Given the description of an element on the screen output the (x, y) to click on. 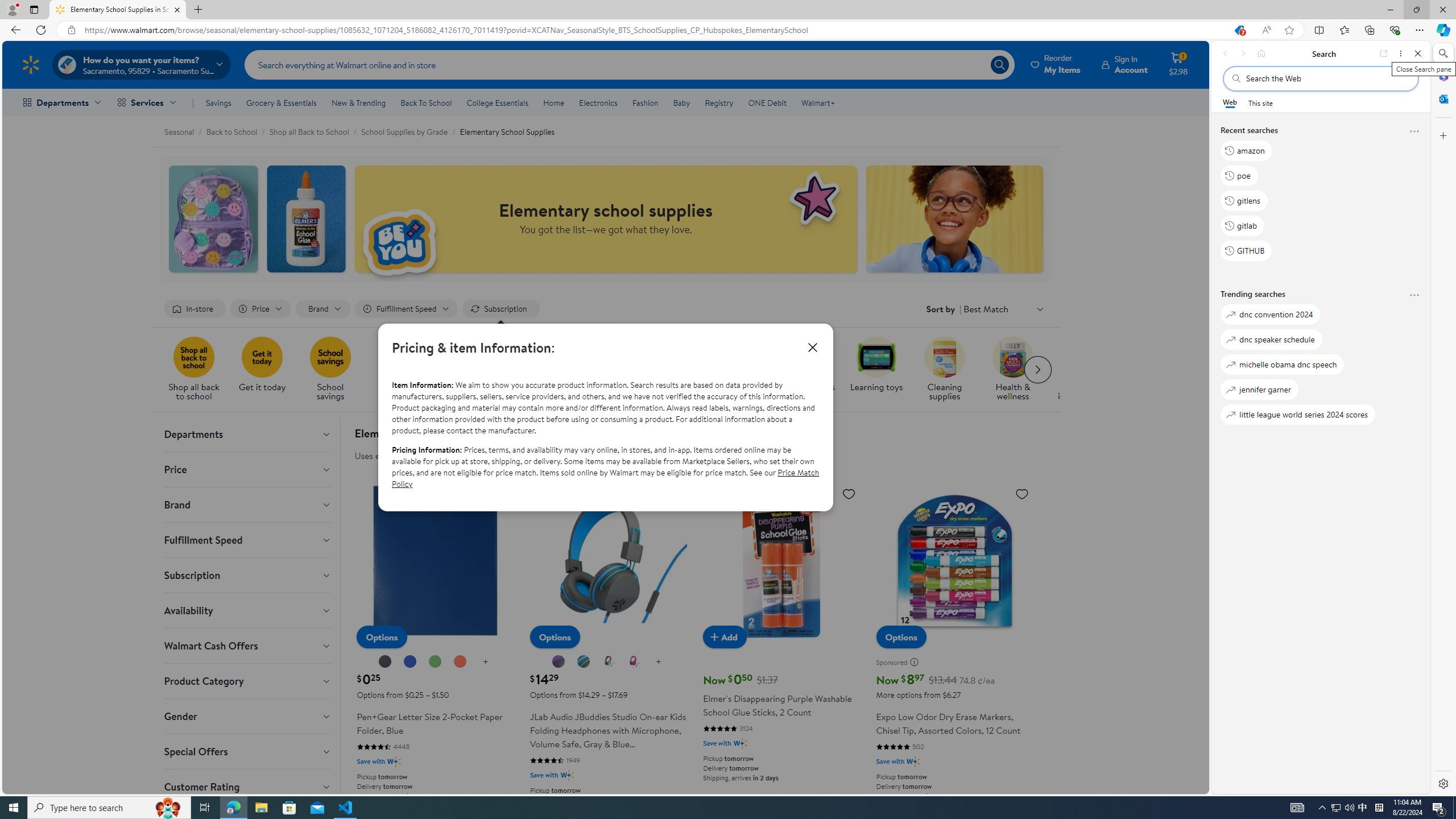
Web scope (1230, 102)
Search the web (1326, 78)
Side bar (1443, 418)
little league world series 2024 scores (1297, 414)
Forward (1242, 53)
